Given the description of an element on the screen output the (x, y) to click on. 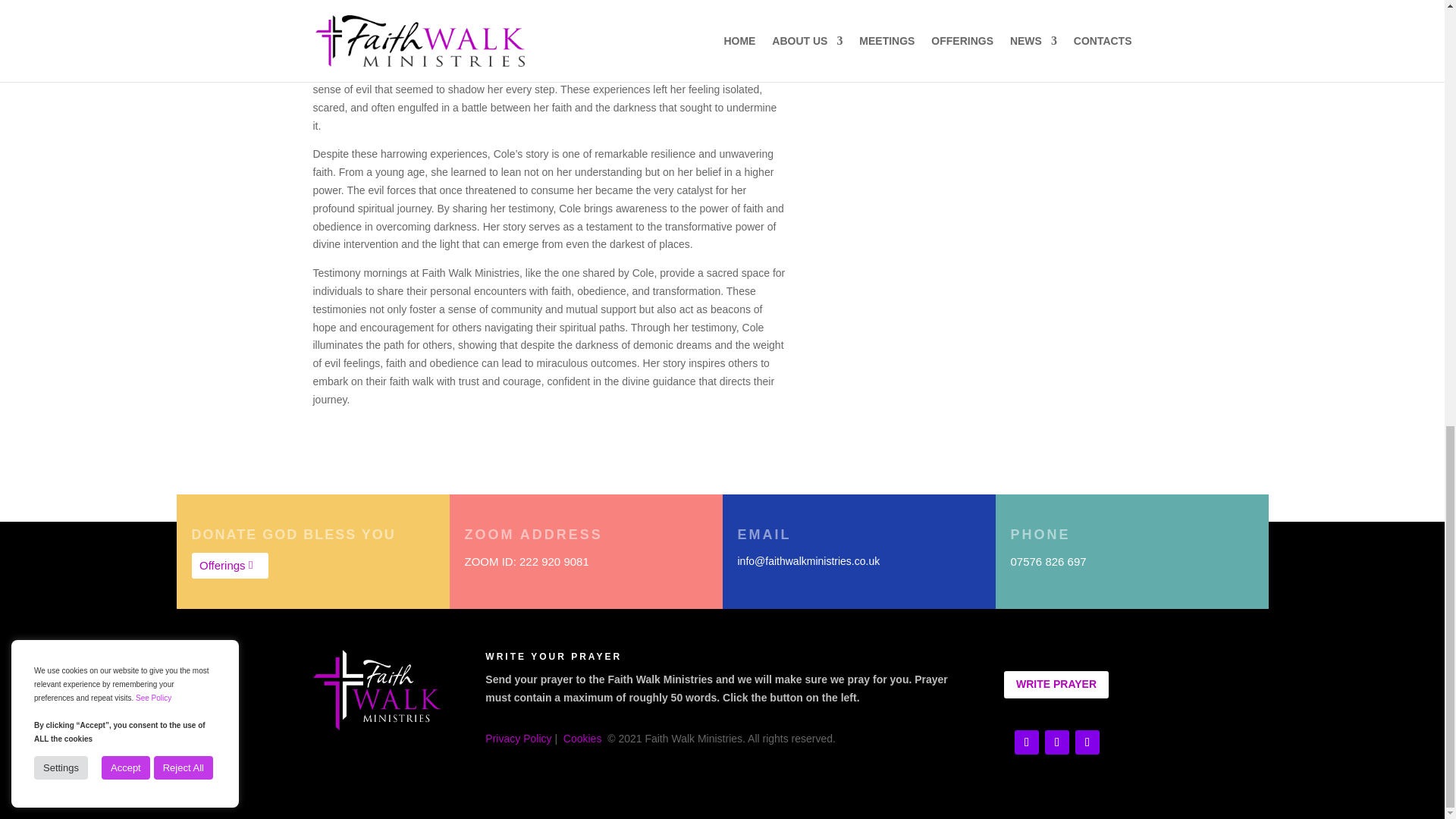
logo-v3-bwsq (376, 690)
WRITE PRAYER (1056, 684)
Submit (1091, 37)
Follow on Instagram (1087, 742)
Privacy Policy (517, 738)
Follow on TikTok (1056, 742)
Cookies (582, 738)
Follow on Youtube (1026, 742)
Offerings (228, 565)
